Given the description of an element on the screen output the (x, y) to click on. 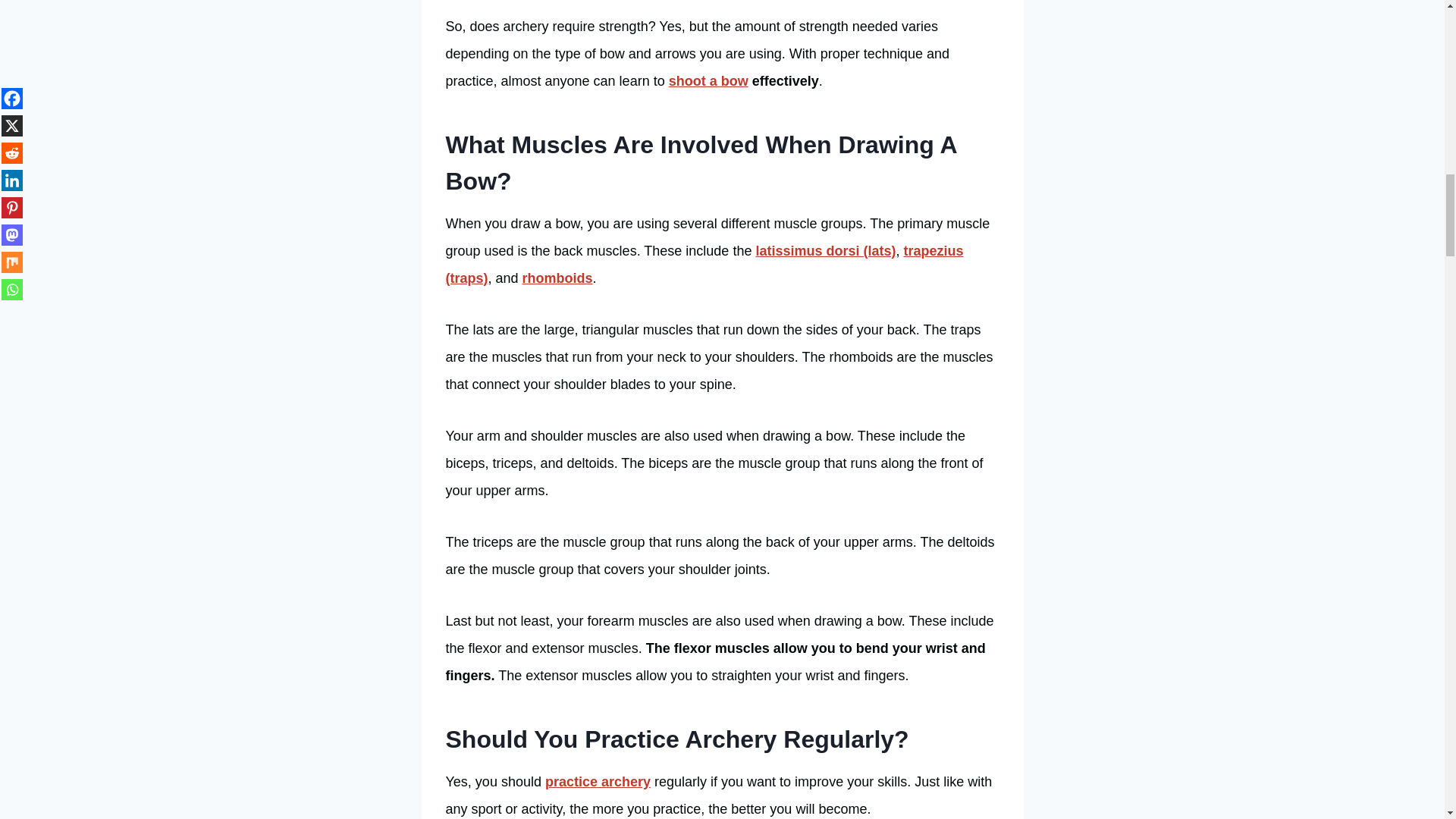
practice archery (597, 781)
shoot a bow (708, 80)
rhomboids (557, 278)
